Given the description of an element on the screen output the (x, y) to click on. 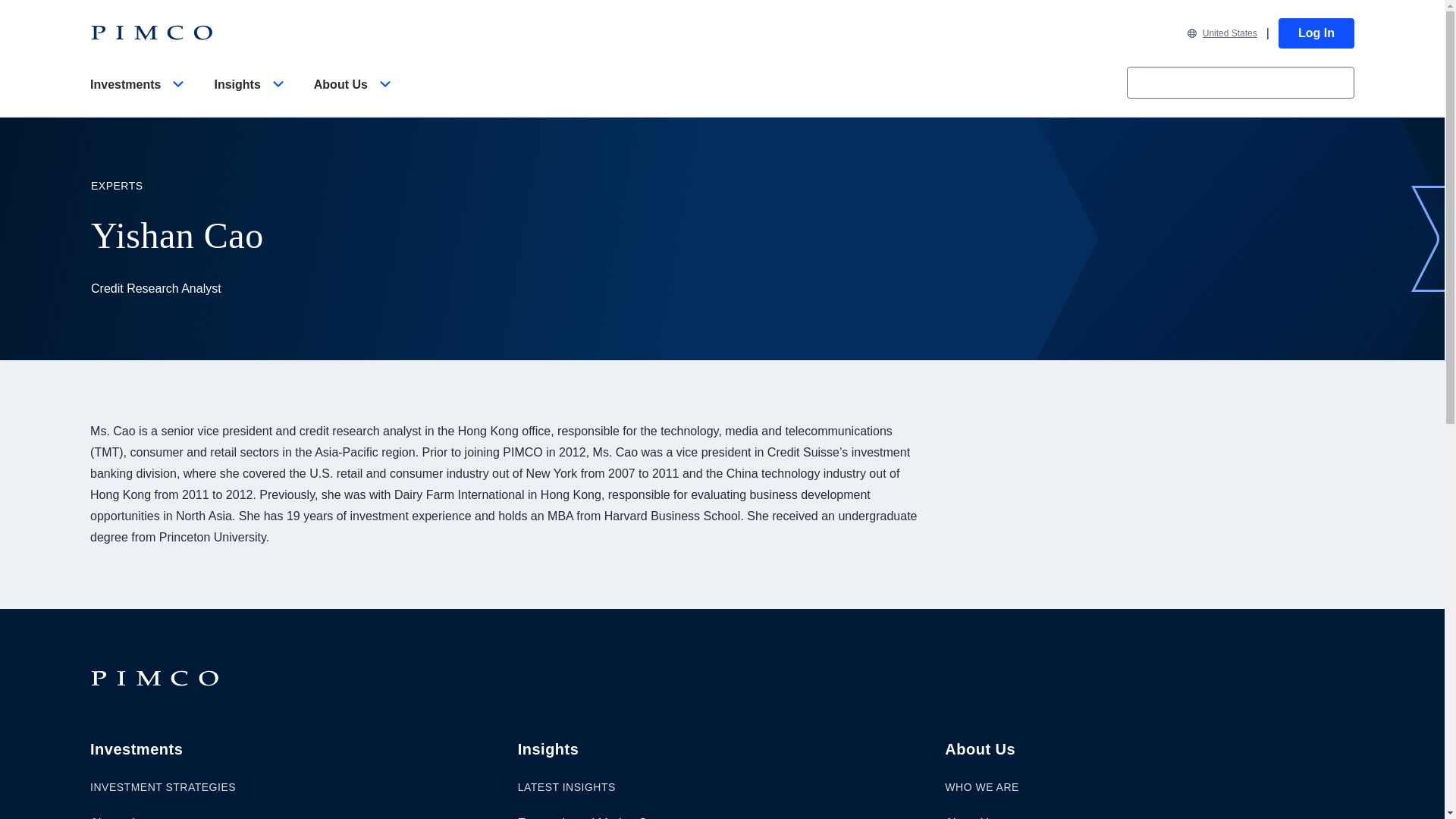
Log In (1316, 33)
About Us (355, 96)
PIMCO Home (151, 33)
Investments (139, 96)
United States (1222, 32)
Insights (251, 96)
